Given the description of an element on the screen output the (x, y) to click on. 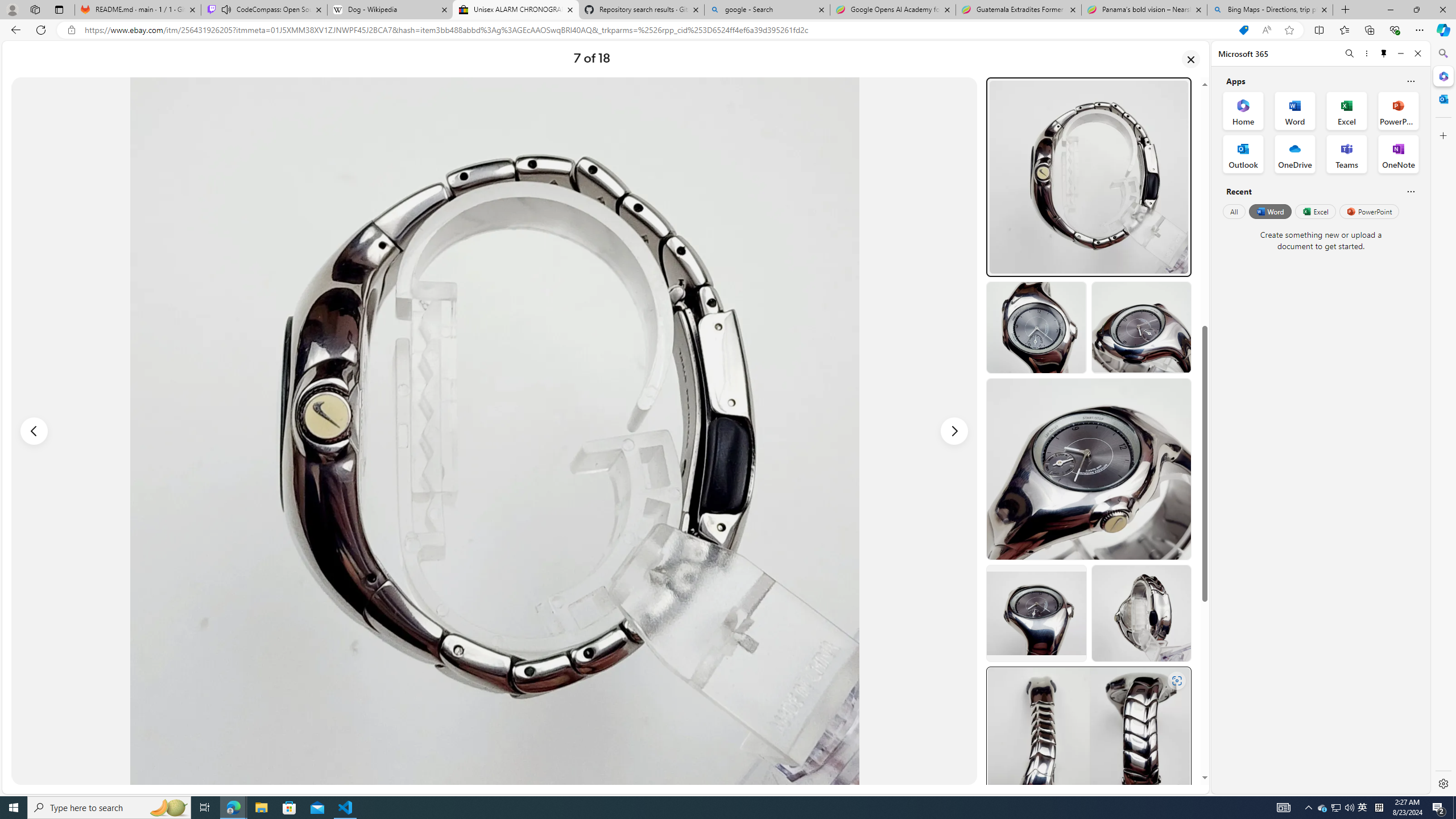
OneNote Office App (1398, 154)
Dog - Wikipedia (389, 9)
Mute tab (226, 8)
PowerPoint Office App (1398, 110)
